Given the description of an element on the screen output the (x, y) to click on. 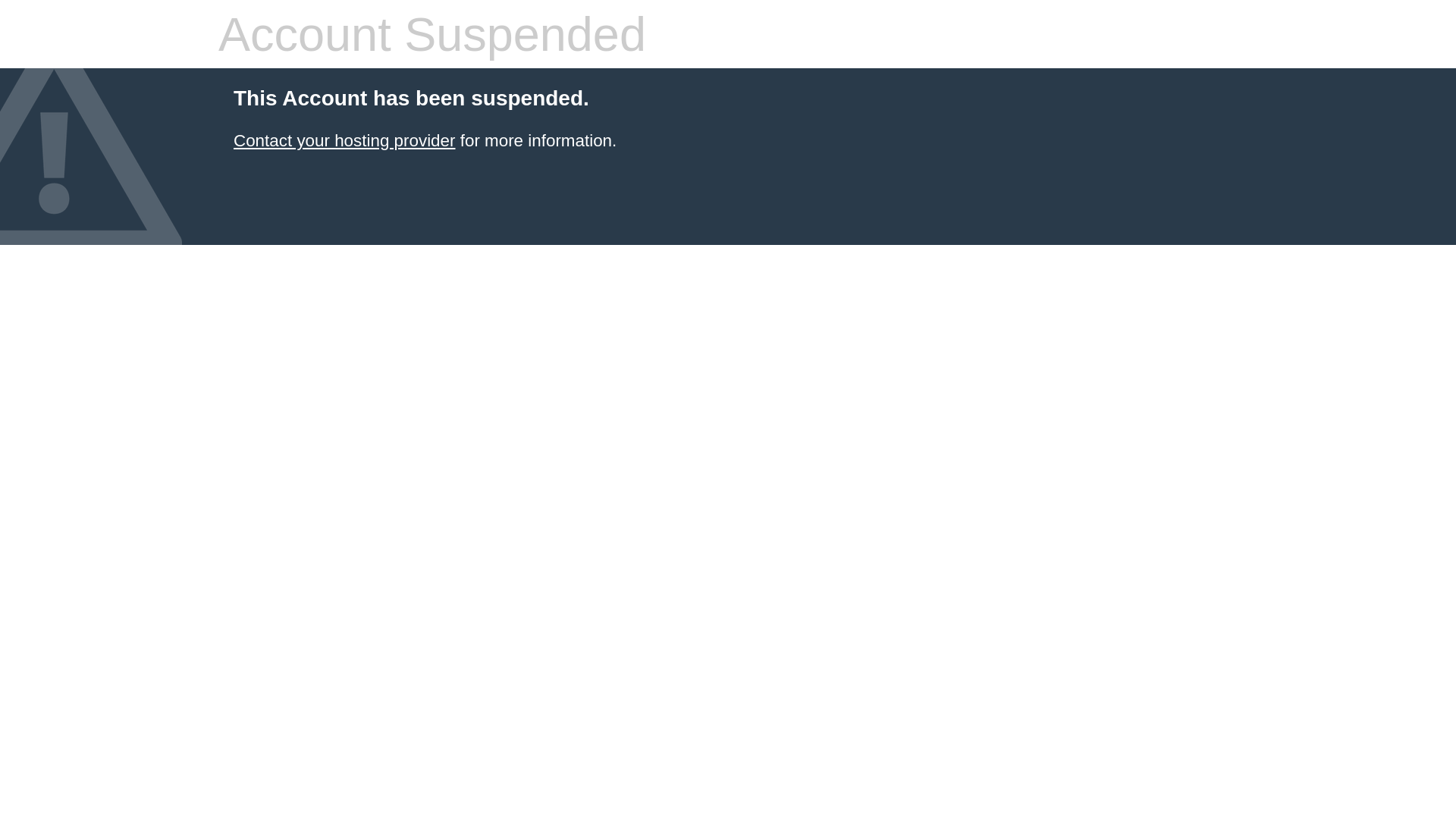
Contact your hosting provider Element type: text (344, 140)
